Given the description of an element on the screen output the (x, y) to click on. 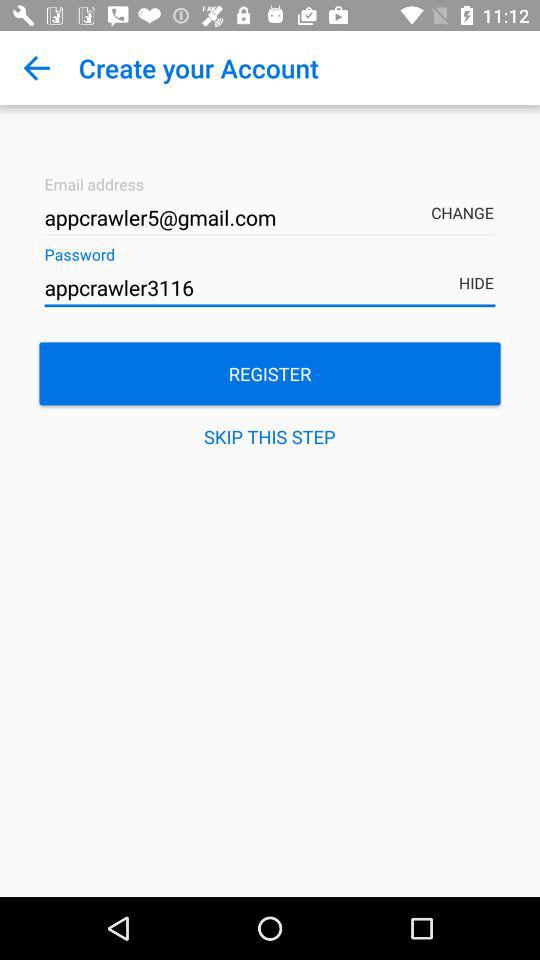
jump to hide icon (479, 269)
